Given the description of an element on the screen output the (x, y) to click on. 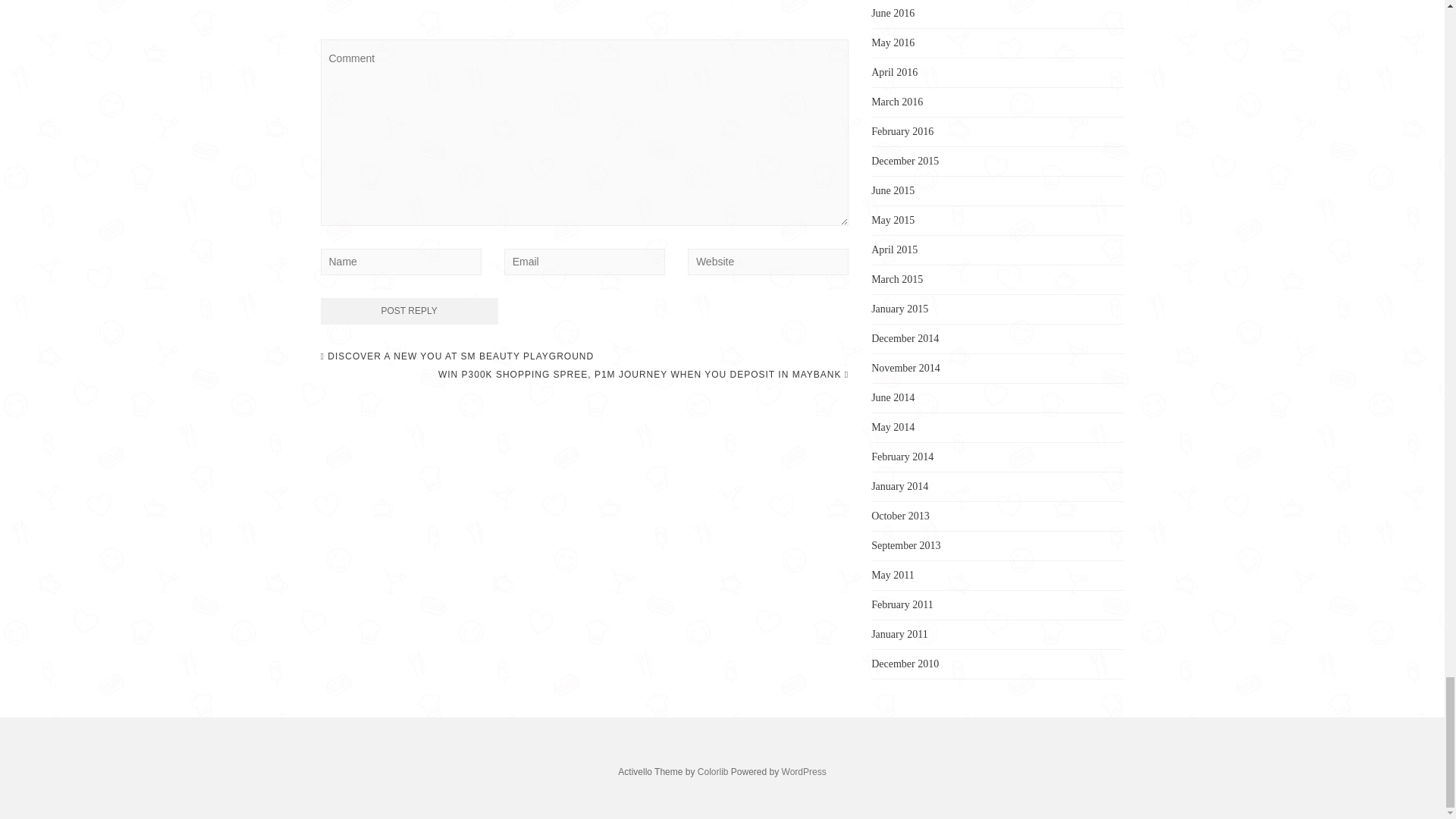
DISCOVER A NEW YOU AT SM BEAUTY PLAYGROUND (457, 356)
Post Reply (408, 311)
Post Reply (408, 311)
